Given the description of an element on the screen output the (x, y) to click on. 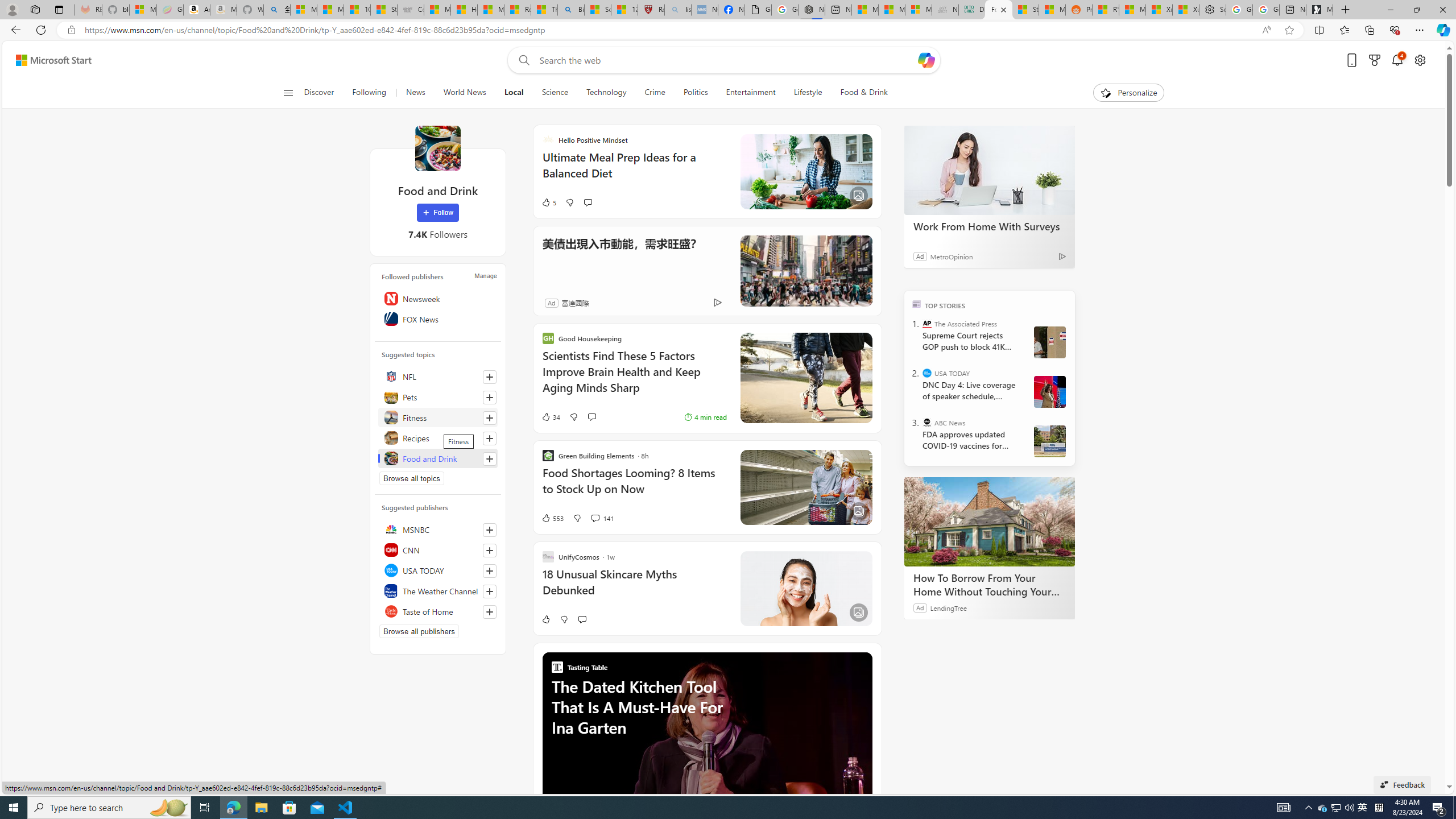
Crime (655, 92)
Ad Choice (717, 302)
Skip to content (49, 59)
World News (464, 92)
DITOGAMES AG Imprint (971, 9)
Microsoft Start Gaming (1319, 9)
Manage (485, 275)
How To Borrow From Your Home Without Touching Your Mortgage (989, 521)
USA TODAY (437, 570)
